Given the description of an element on the screen output the (x, y) to click on. 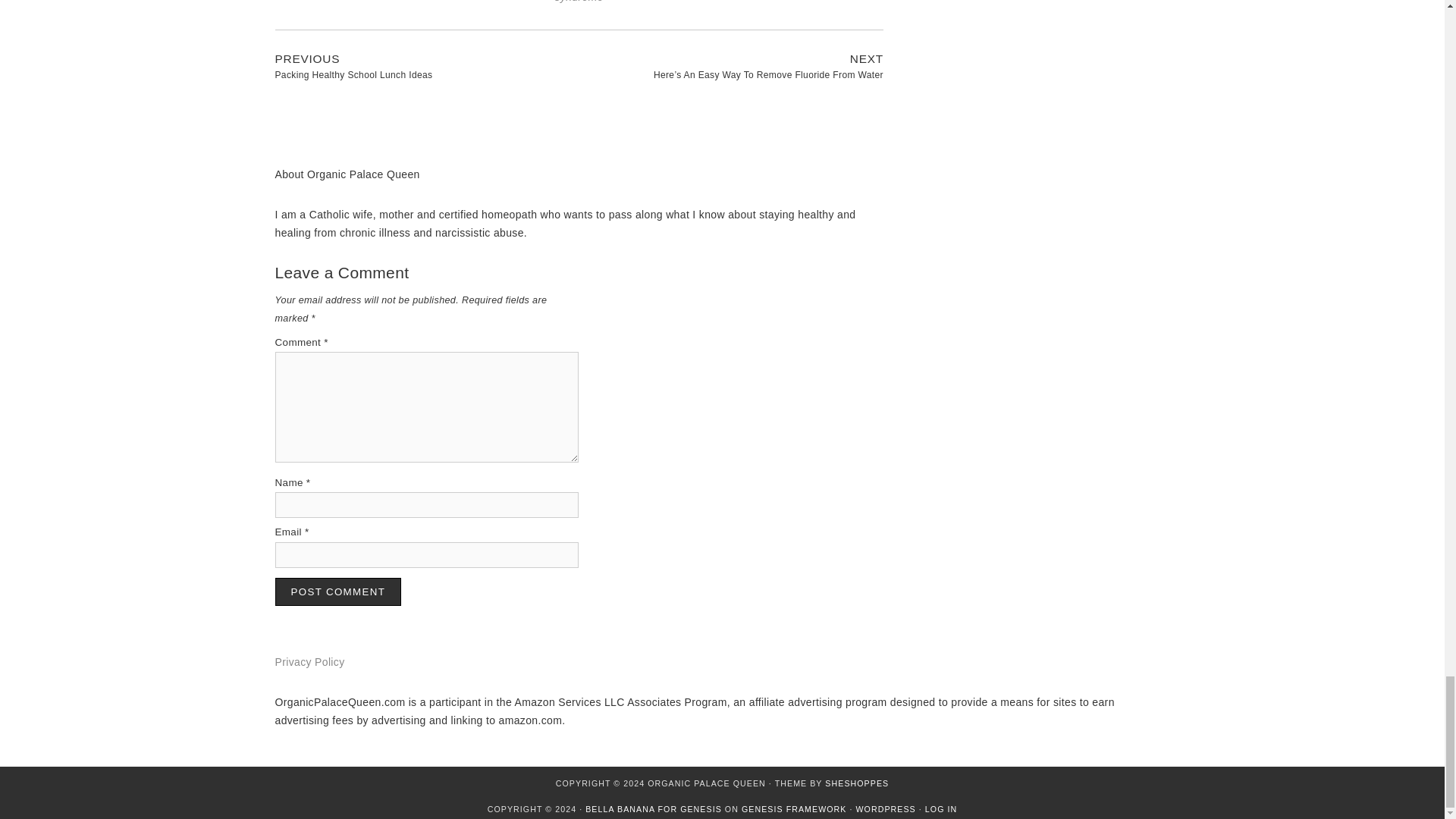
Post Comment (338, 592)
